Given the description of an element on the screen output the (x, y) to click on. 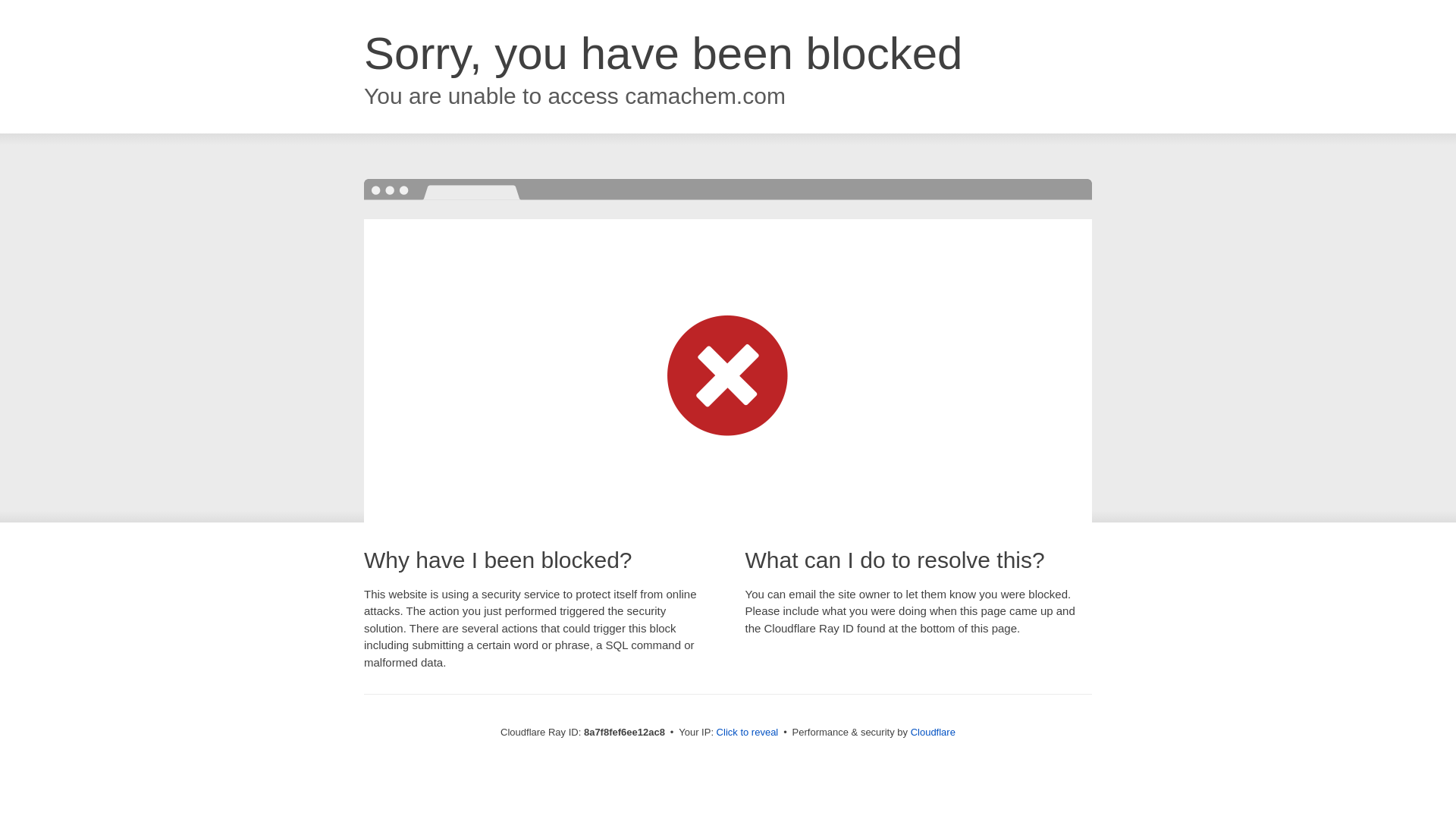
Cloudflare (933, 731)
Click to reveal (747, 732)
